Given the description of an element on the screen output the (x, y) to click on. 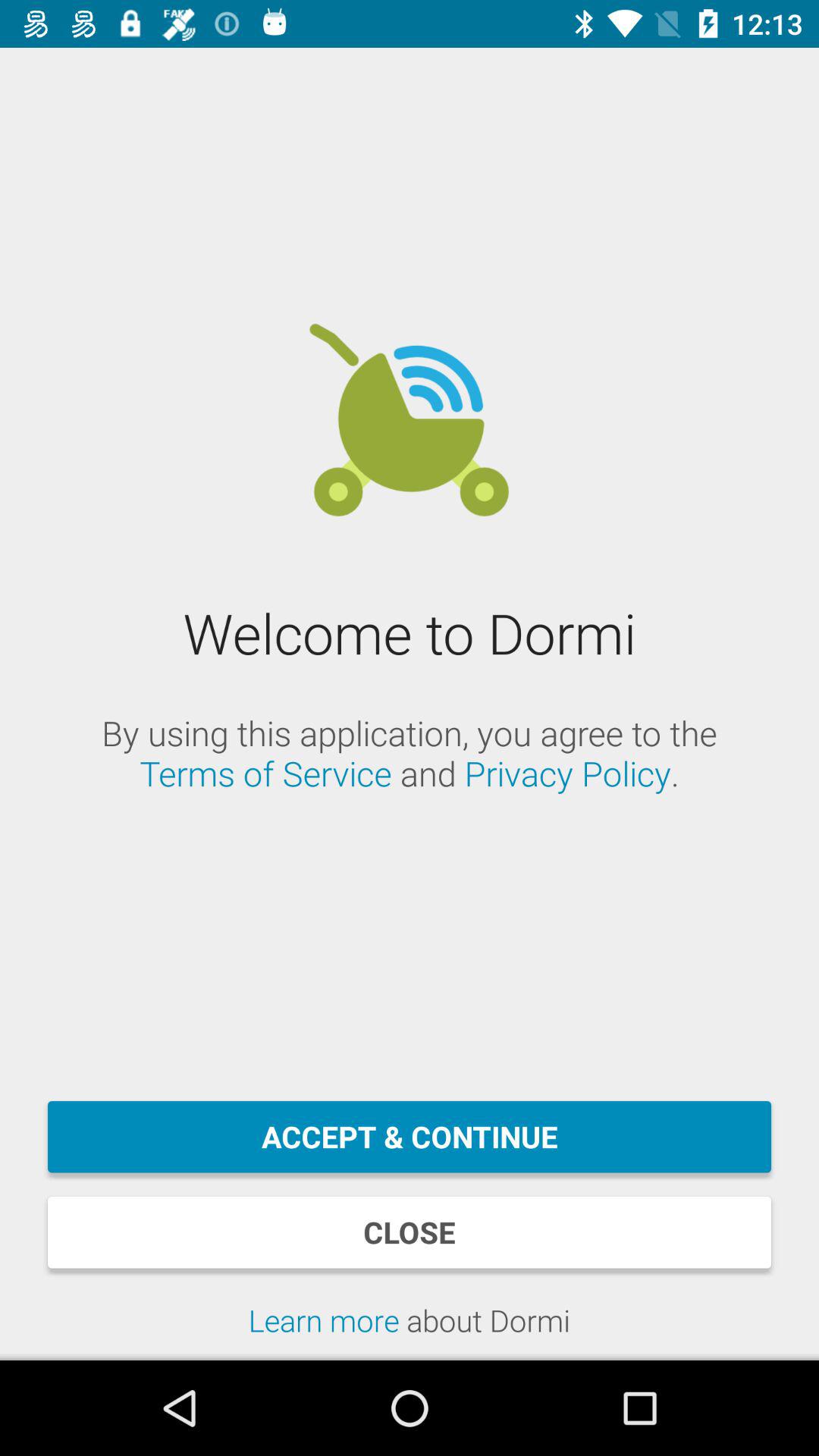
turn off icon below the welcome to dormi item (409, 752)
